Given the description of an element on the screen output the (x, y) to click on. 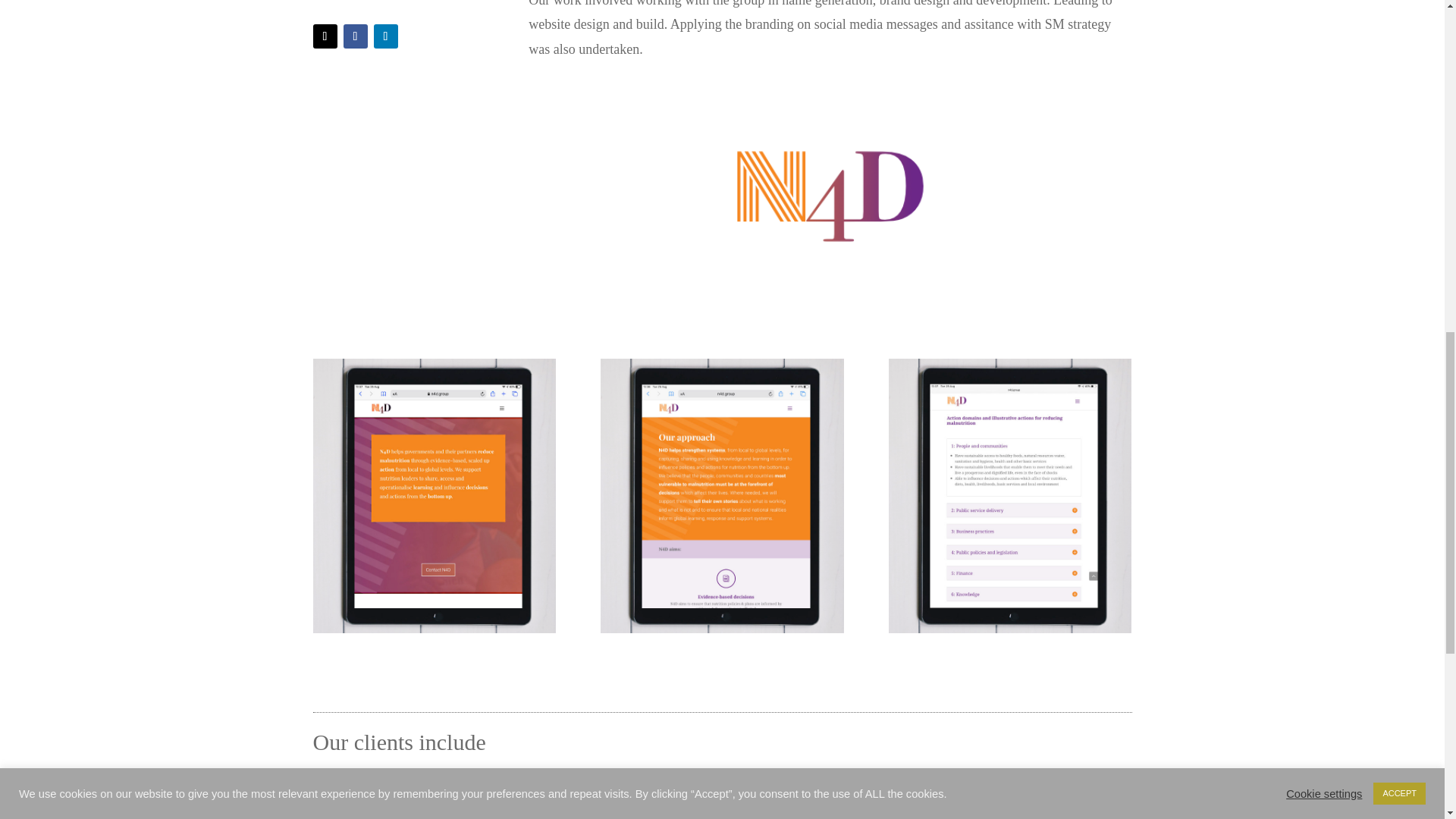
ENN LOGO (937, 805)
IFPRI LOGO 2 (793, 805)
Follow on Facebook (354, 36)
FAO LOGO 1 (648, 805)
UNICEF LOGO (505, 805)
wfp logo (361, 805)
Follow on X (324, 36)
Follow on LinkedIn (384, 36)
